Given the description of an element on the screen output the (x, y) to click on. 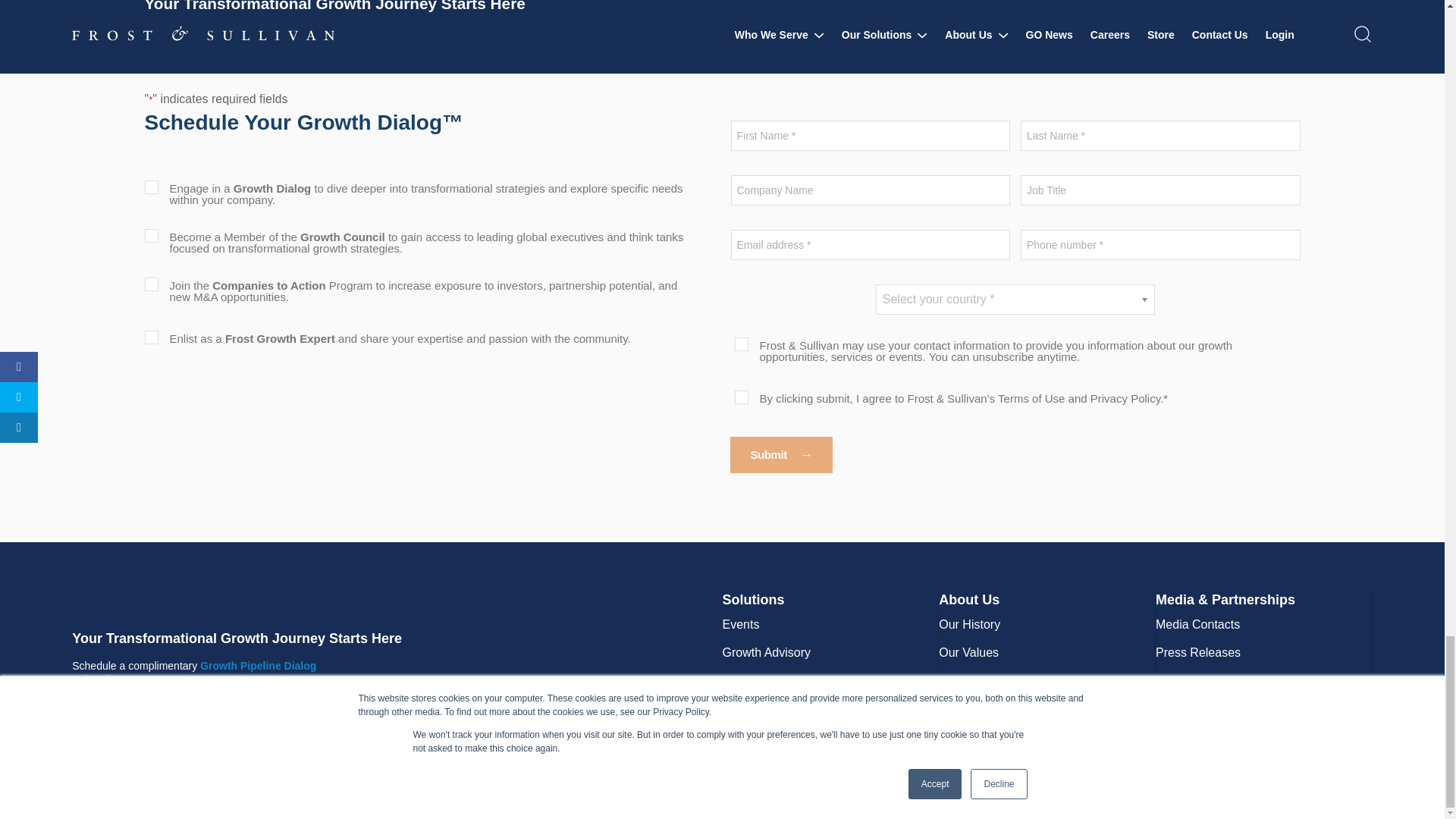
frostsullivanlogo (223, 601)
